Given the description of an element on the screen output the (x, y) to click on. 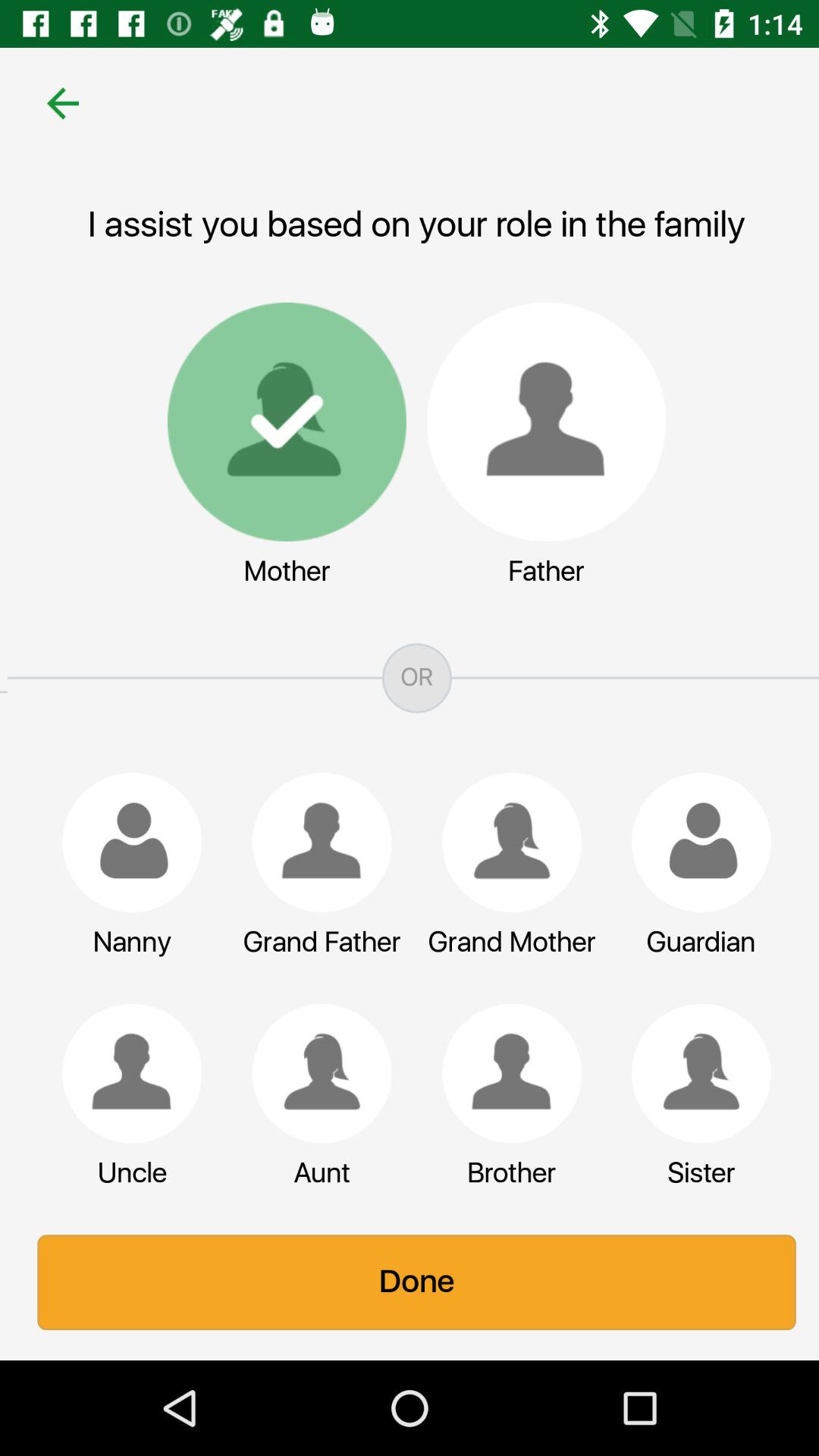
click item next to the grand mother (693, 842)
